Given the description of an element on the screen output the (x, y) to click on. 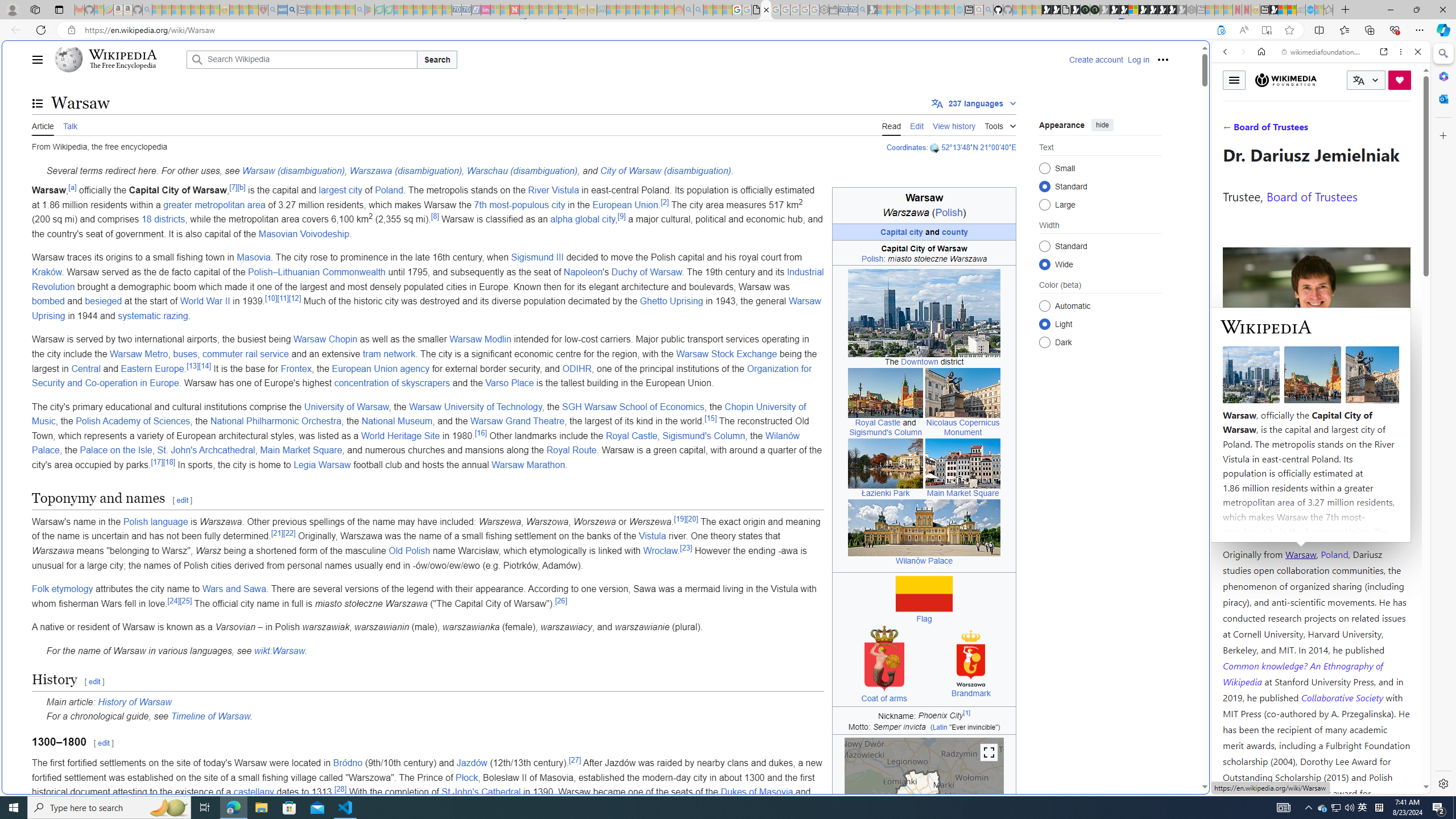
World Heritage Site (400, 435)
Official logo of Warsaw (970, 658)
Kozminski University (1316, 486)
7th most-populous city (518, 204)
Earth has six continents not seven, radical new study claims (1291, 9)
Class: mergedrow (923, 728)
Dark (1044, 341)
